Given the description of an element on the screen output the (x, y) to click on. 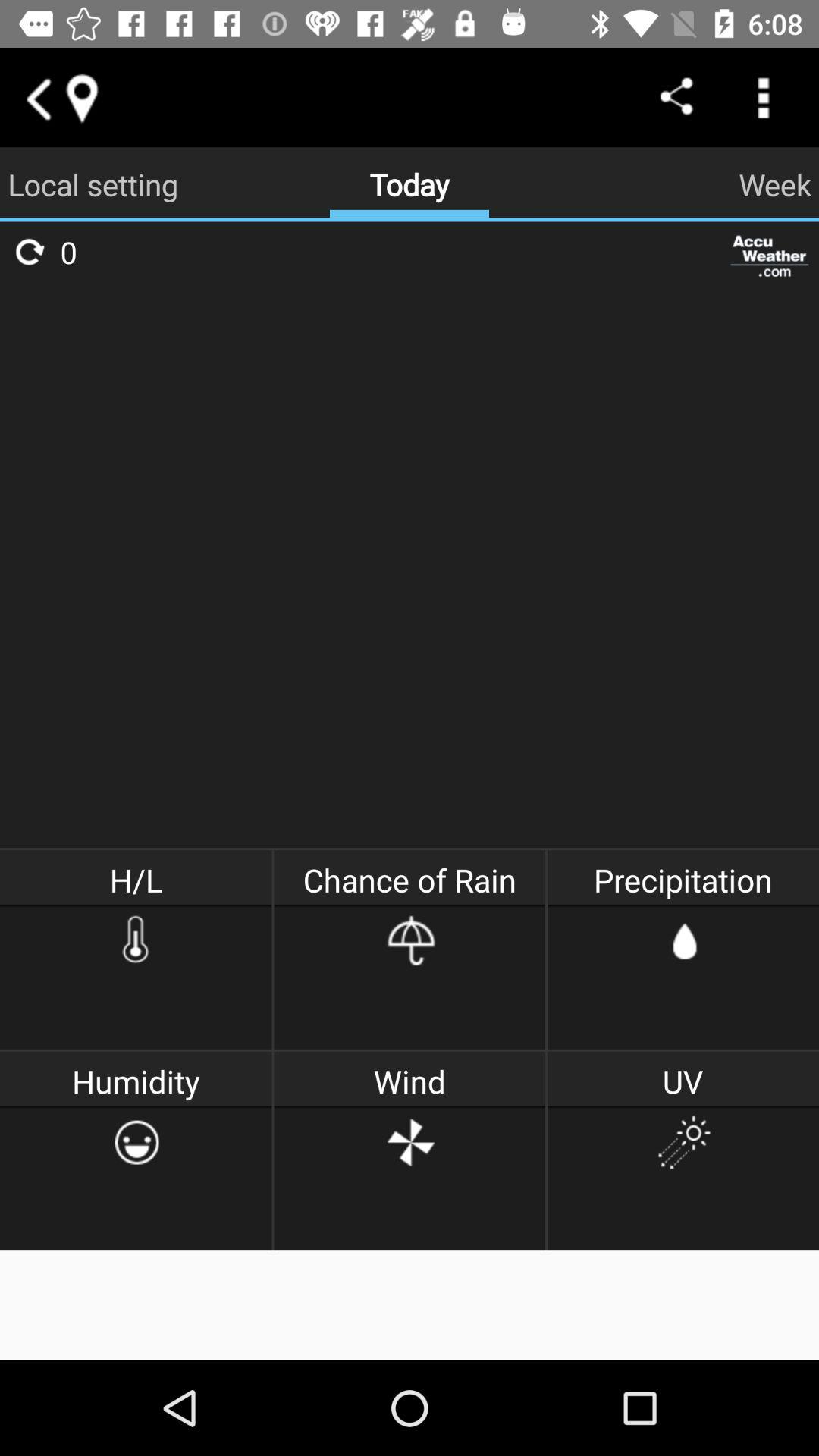
back button (37, 97)
